Given the description of an element on the screen output the (x, y) to click on. 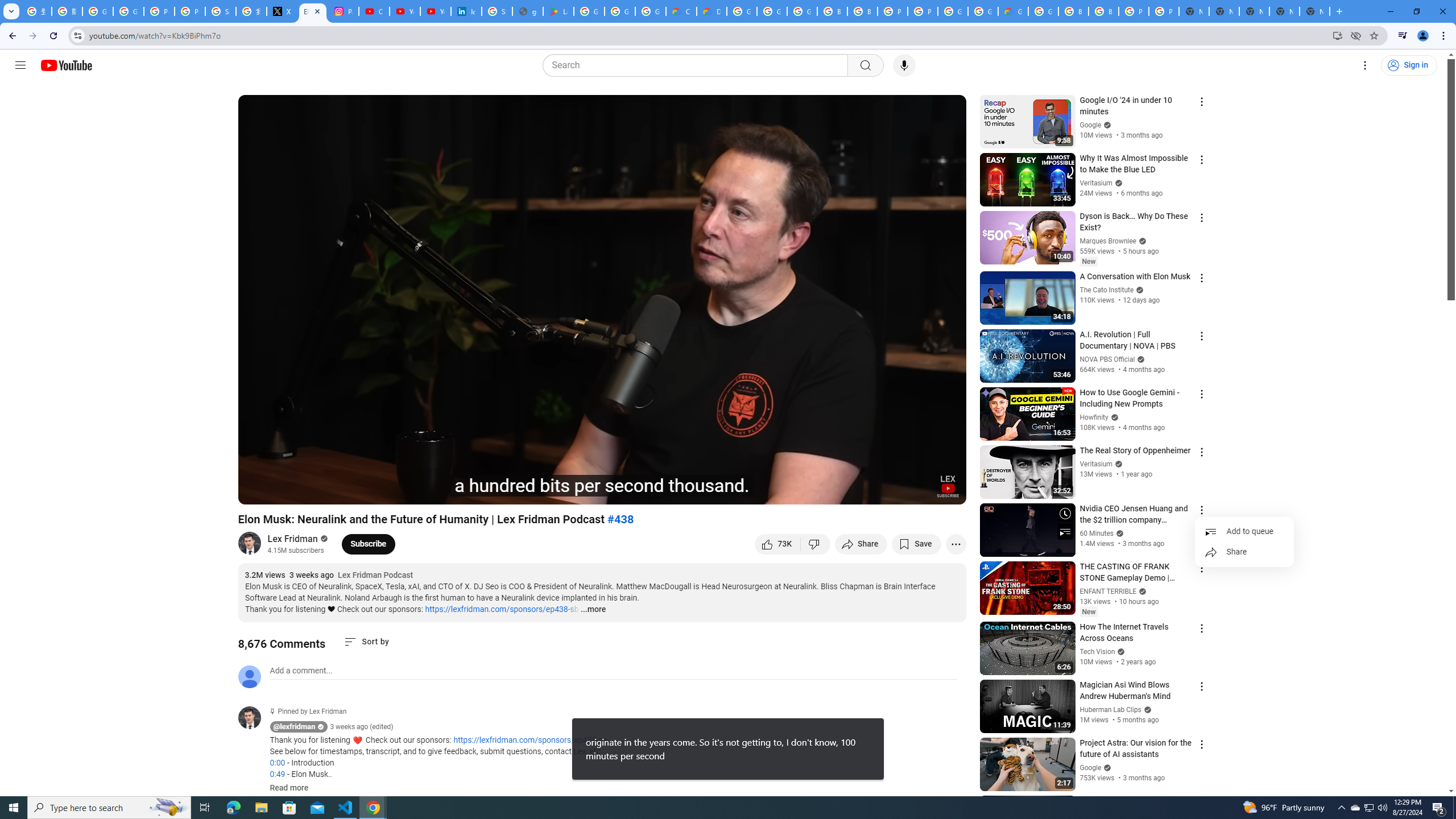
Default profile photo (248, 676)
Autoplay is on (808, 490)
Read more (288, 787)
X (282, 11)
Google Cloud Platform (1042, 11)
https://lexfridman.com/sponsors/ep438-sb (502, 609)
like this video along with 73,133 other people (777, 543)
